Given the description of an element on the screen output the (x, y) to click on. 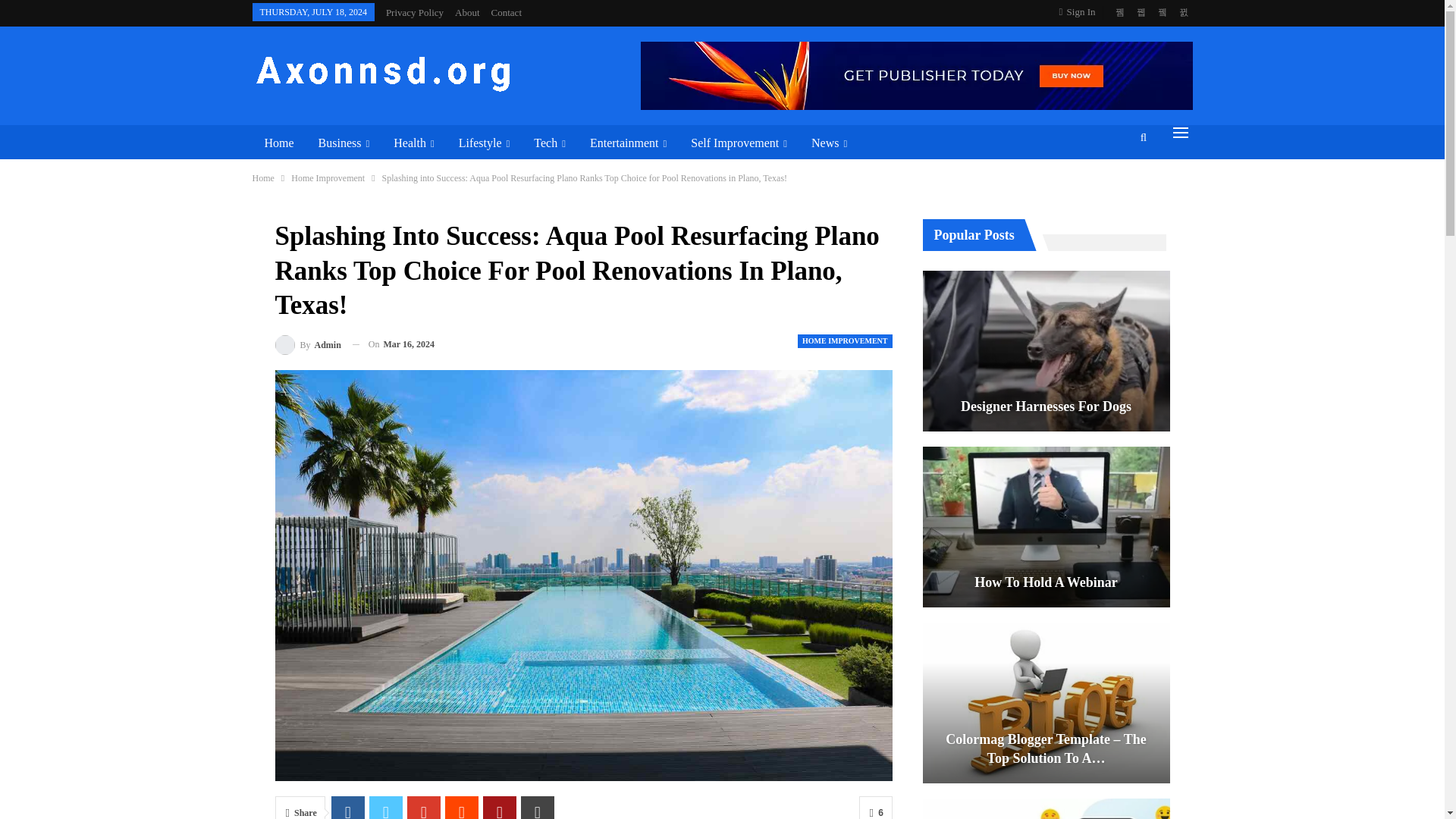
Browse Author Articles (307, 344)
